Given the description of an element on the screen output the (x, y) to click on. 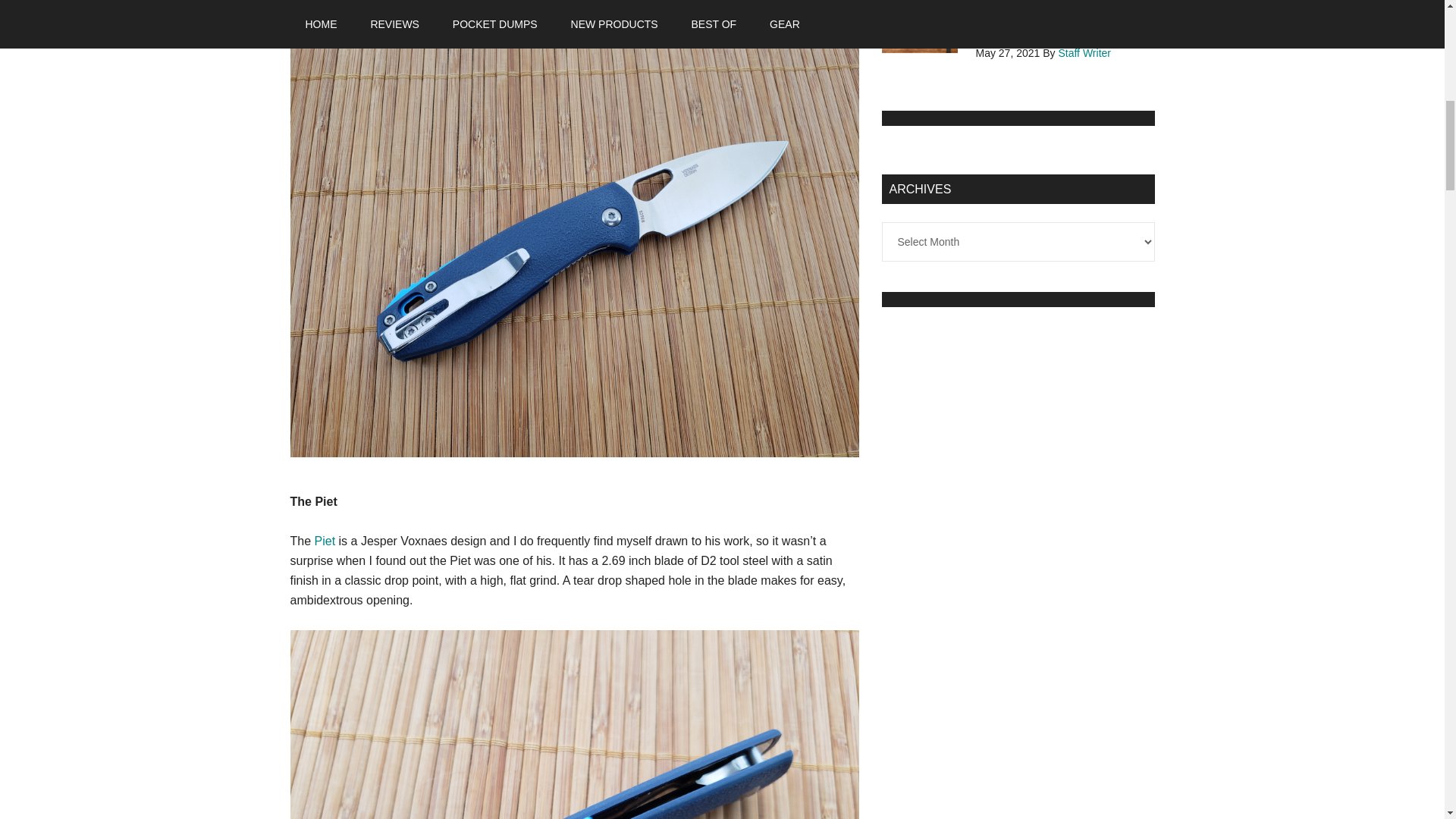
Piet (325, 540)
